Given the description of an element on the screen output the (x, y) to click on. 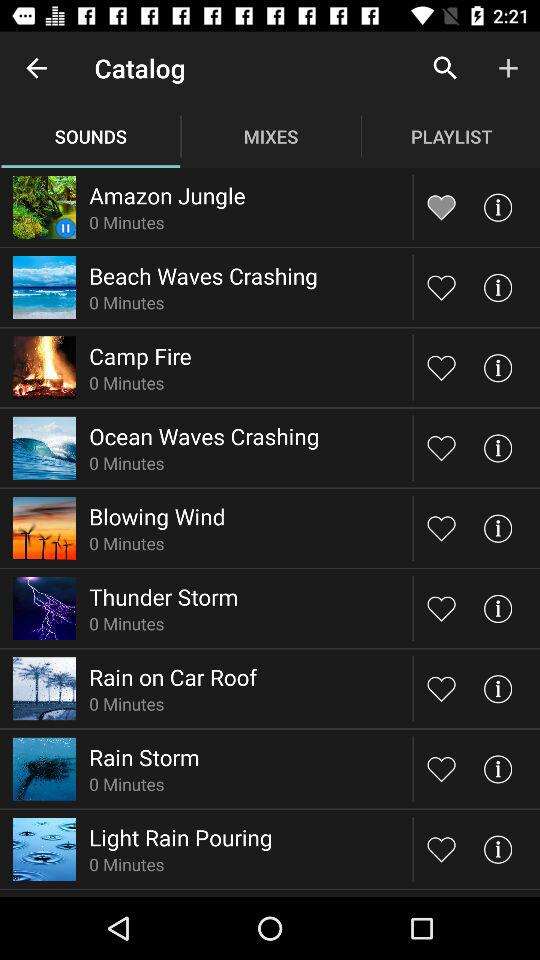
turn on the item above sounds item (36, 68)
